Given the description of an element on the screen output the (x, y) to click on. 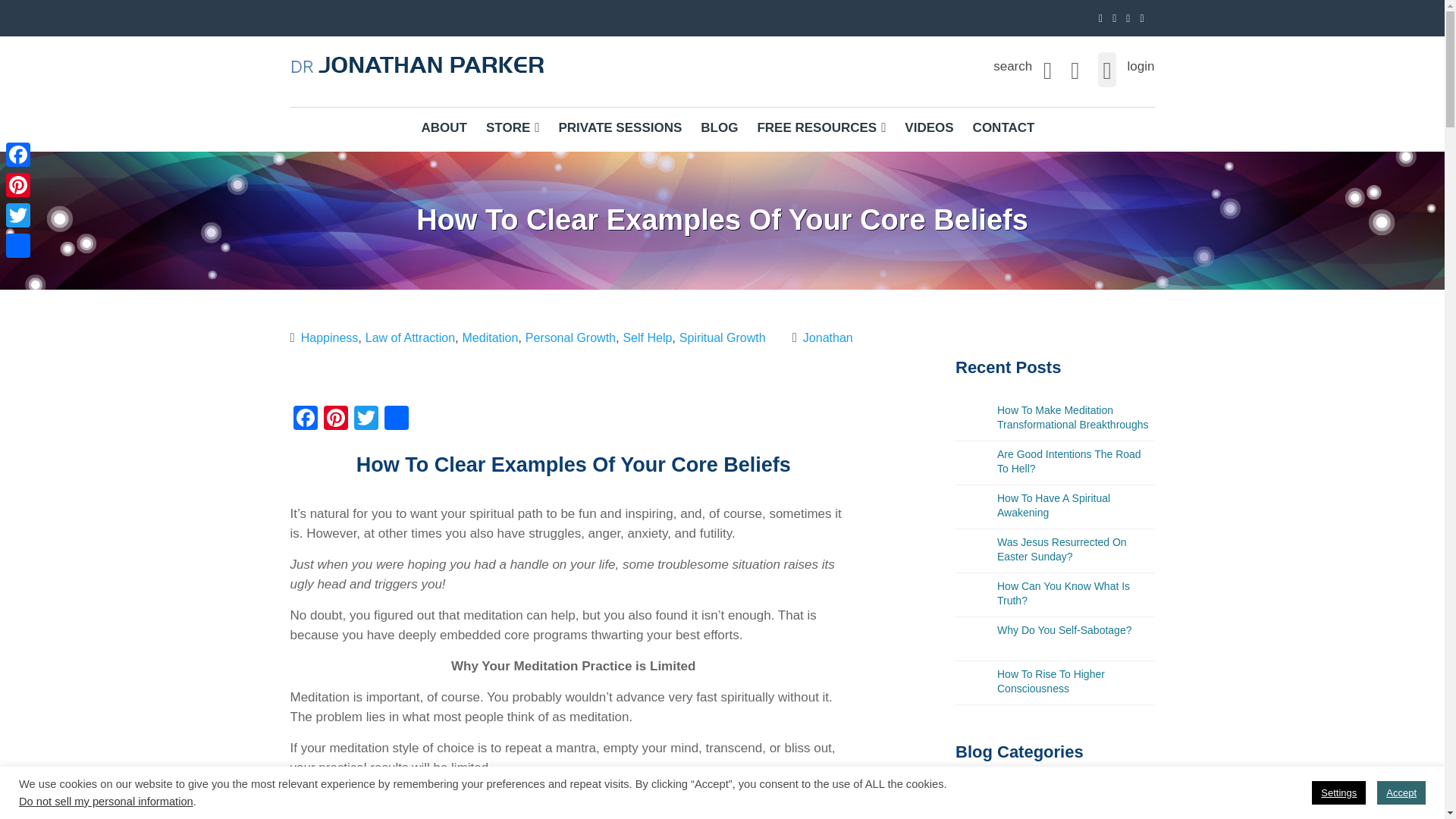
Twitter (365, 419)
STORE (512, 126)
Pinterest (335, 419)
PRIVATE SESSIONS (619, 126)
ABOUT (443, 126)
FREE RESOURCES (820, 126)
View your shopping cart (1074, 65)
Facebook (304, 419)
BLOG (719, 126)
